Given the description of an element on the screen output the (x, y) to click on. 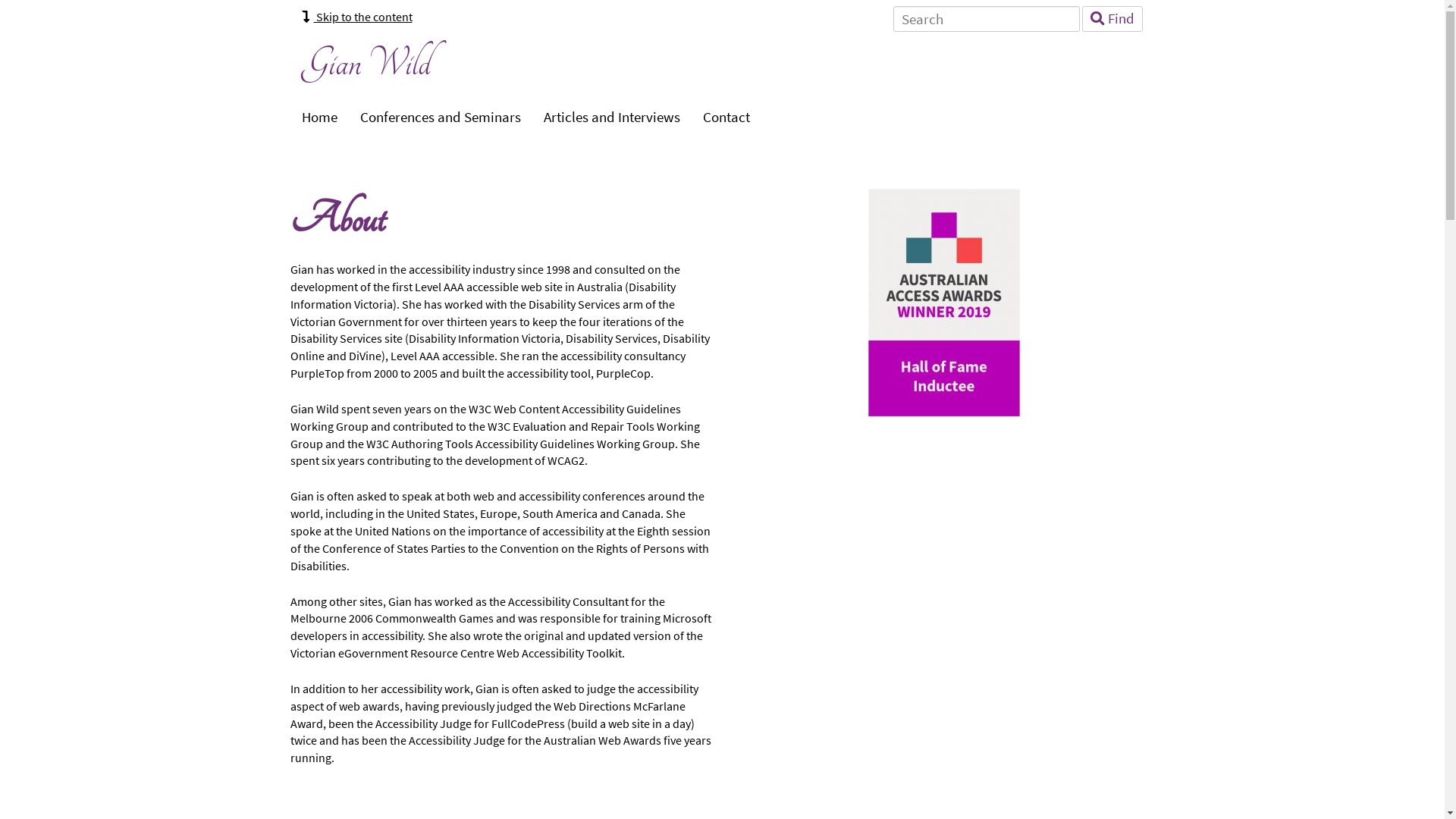
Skip to the content Element type: text (356, 17)
Articles and Interviews Element type: text (611, 117)
Contact Element type: text (726, 117)
Gian Wild Element type: text (366, 62)
Find Element type: text (1112, 18)
Conferences and Seminars Element type: text (440, 117)
Home Element type: text (318, 117)
